Given the description of an element on the screen output the (x, y) to click on. 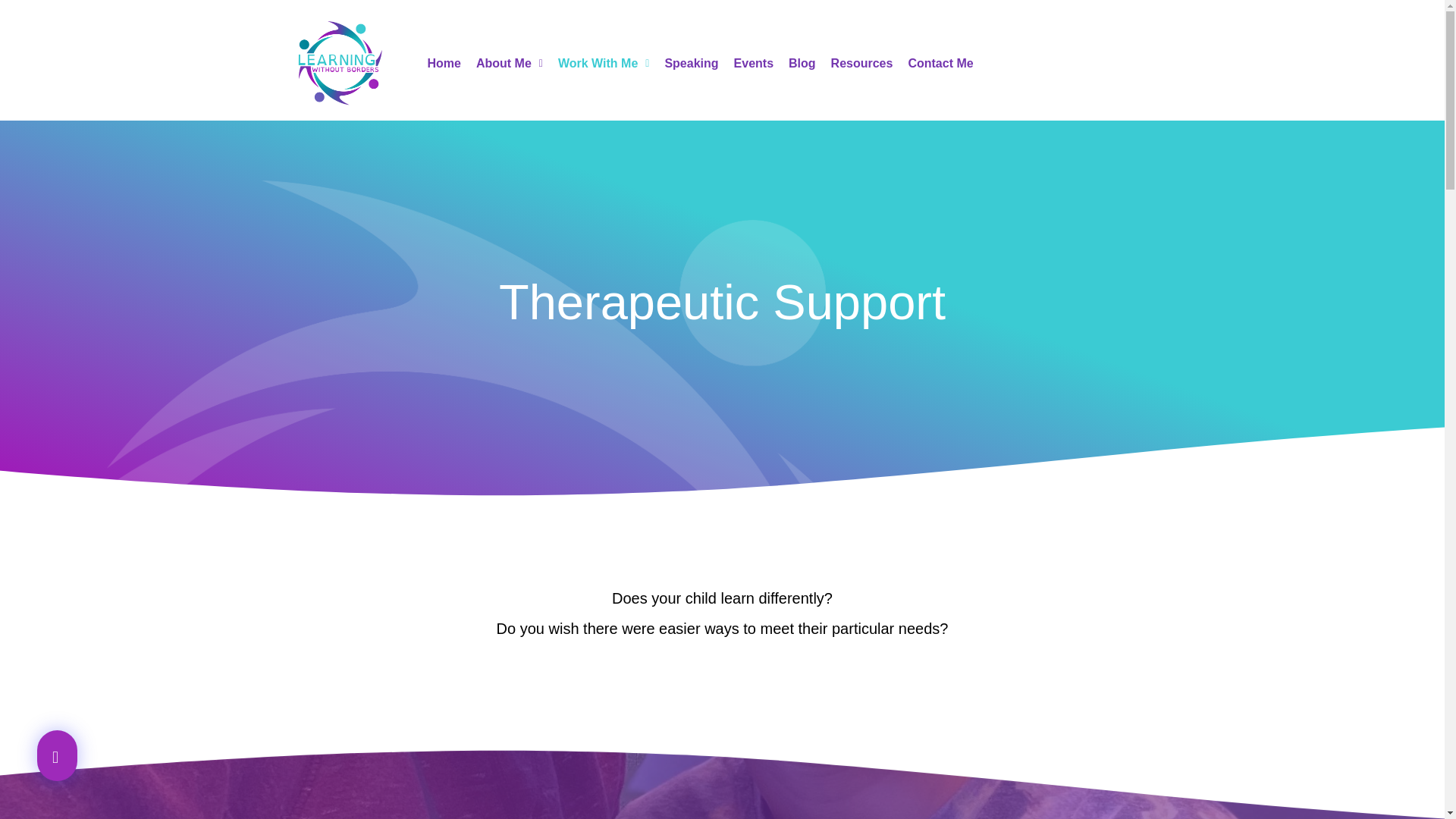
Resources (862, 63)
Home (444, 63)
About Me (509, 63)
Blog (802, 63)
Contact Me (939, 63)
Work With Me (603, 63)
Speaking (690, 63)
Events (753, 63)
